Given the description of an element on the screen output the (x, y) to click on. 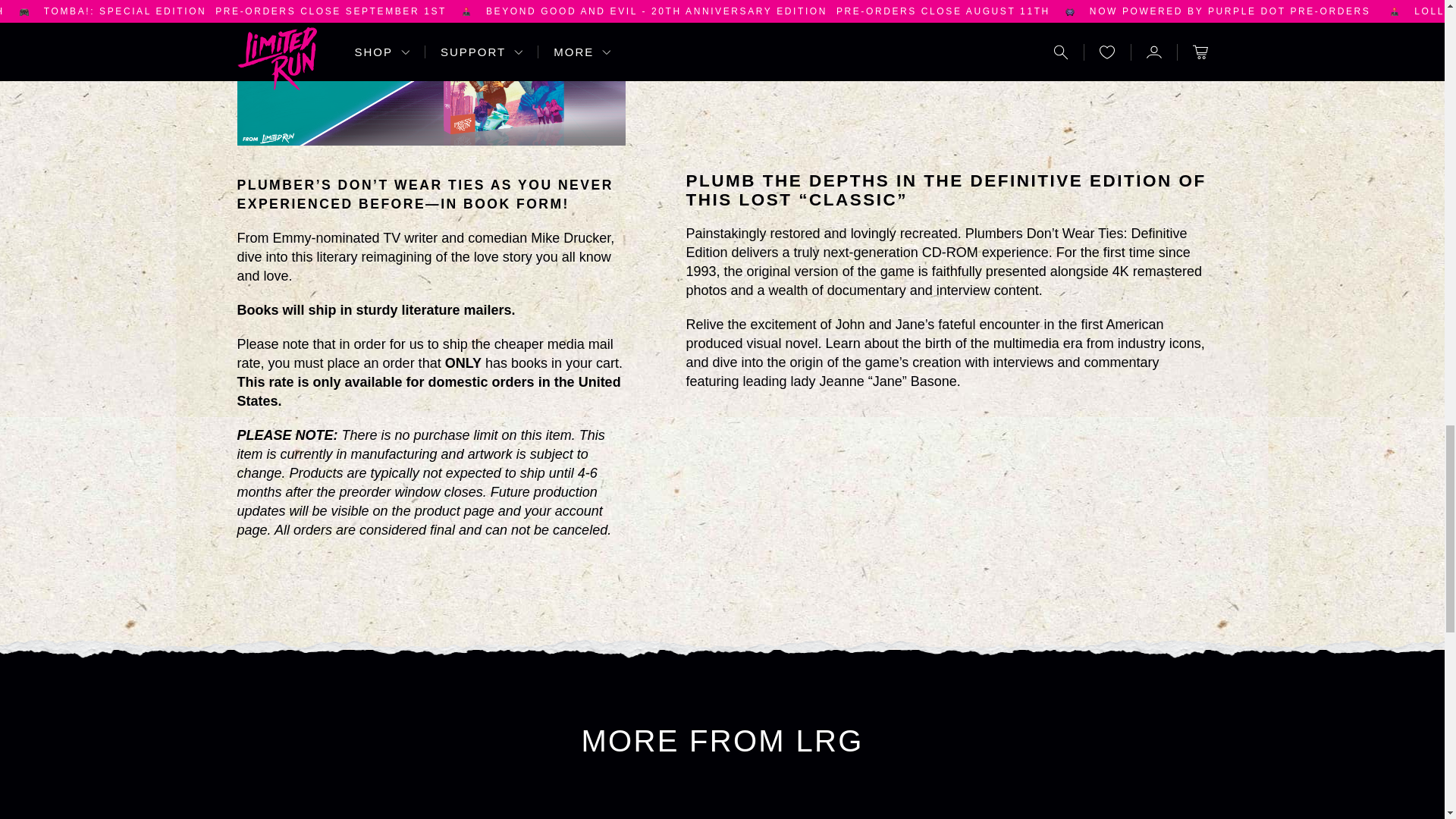
YouTube video player (946, 70)
